Given the description of an element on the screen output the (x, y) to click on. 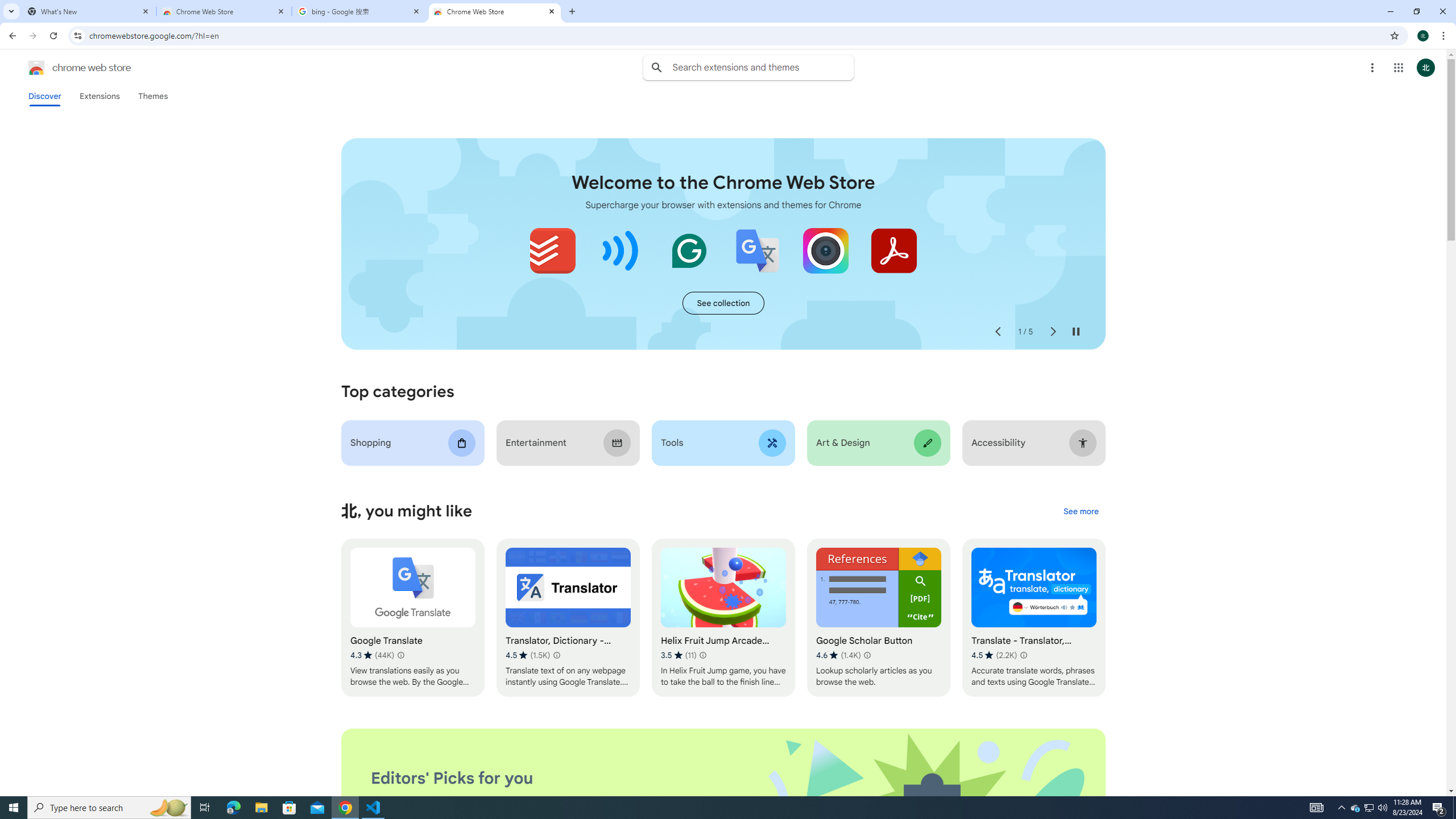
Average rating 4.6 out of 5 stars. 1.4K ratings. (837, 655)
Average rating 4.5 out of 5 stars. 2.2K ratings. (993, 655)
Pause auto-play (1075, 331)
Previous slide (997, 331)
Accessibility (1033, 443)
Average rating 4.5 out of 5 stars. 1.5K ratings. (527, 655)
Art & Design (878, 443)
